Given the description of an element on the screen output the (x, y) to click on. 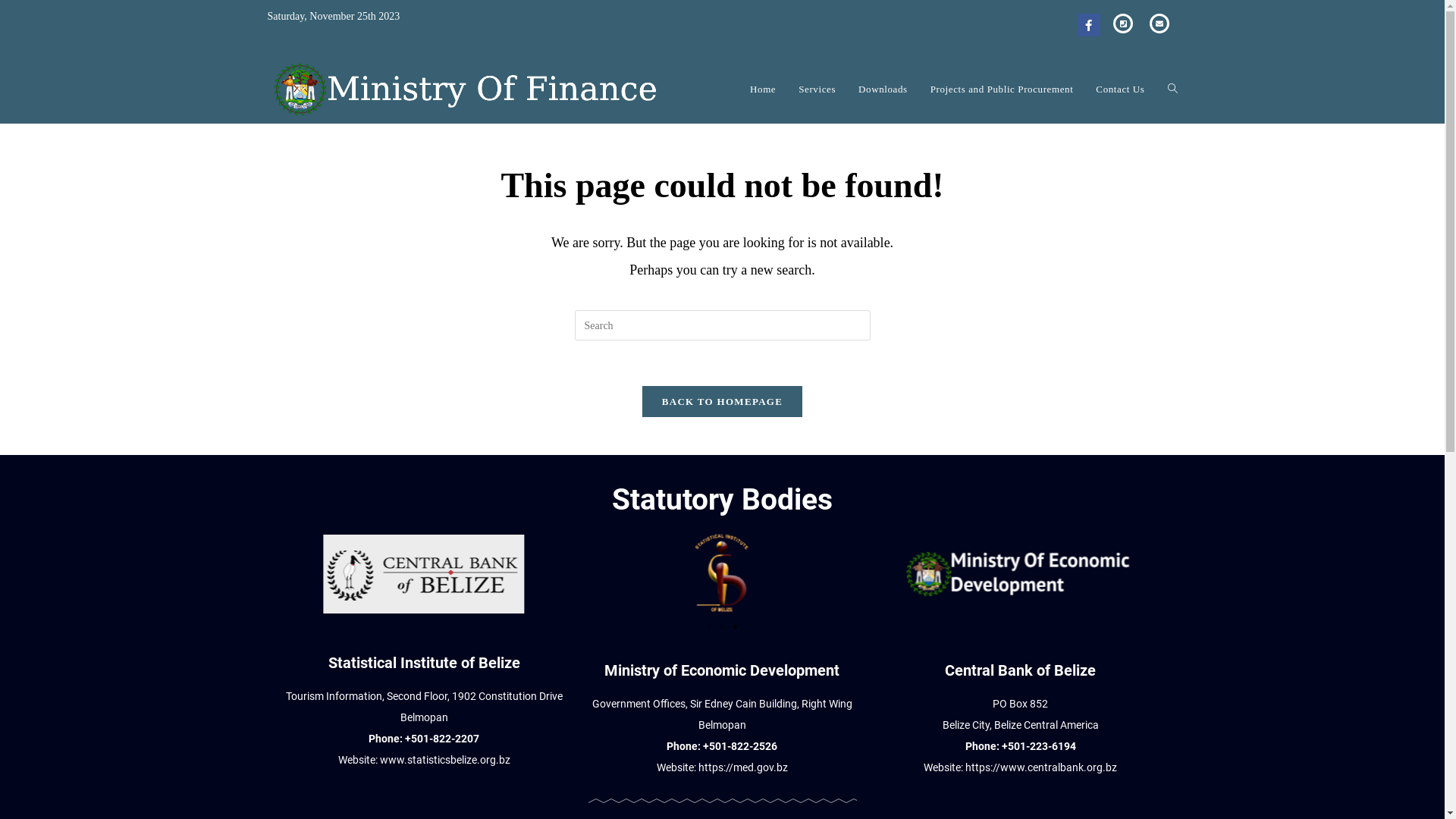
Services Element type: text (817, 89)
https://med.gov.bz Element type: text (742, 767)
Downloads Element type: text (883, 89)
+501-223-6194 Element type: text (1038, 746)
+501-822-2526 Element type: text (739, 746)
Home Element type: text (762, 89)
+501-822-2207 Element type: text (441, 738)
Contact Us Element type: text (1119, 89)
www.statisticsbelize.org.bz Element type: text (444, 759)
BACK TO HOMEPAGE Element type: text (722, 401)
https://www.centralbank.org.bz Element type: text (1041, 767)
Projects and Public Procurement Element type: text (1002, 89)
